Given the description of an element on the screen output the (x, y) to click on. 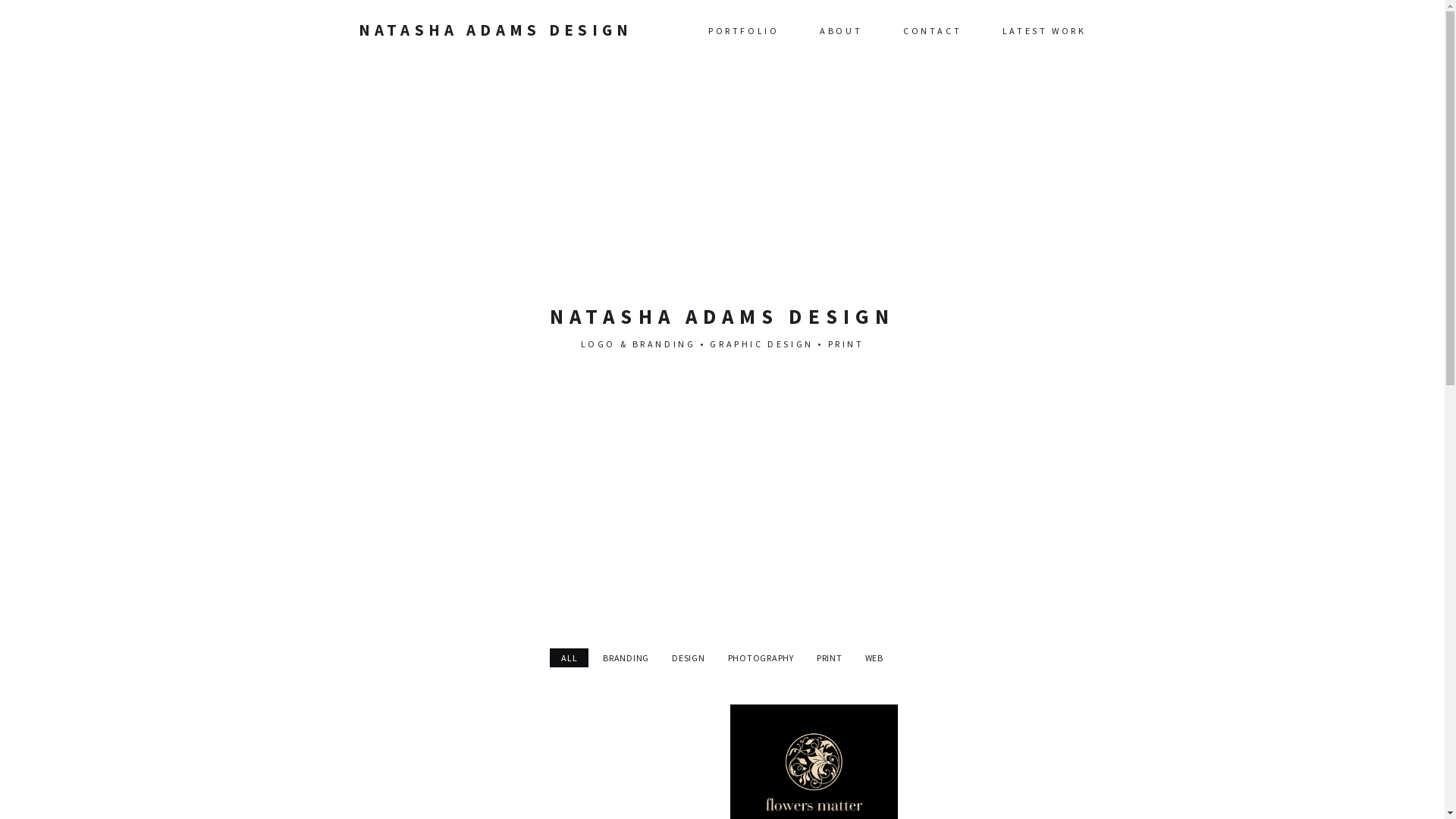
WEB Element type: text (873, 657)
DESIGN Element type: text (688, 657)
PHOTOGRAPHY Element type: text (760, 657)
ALL Element type: text (568, 657)
ABOUT Element type: text (840, 29)
BRANDING Element type: text (625, 657)
PORTFOLIO Element type: text (743, 29)
NATASHA ADAMS DESIGN Element type: text (494, 29)
LATEST WORK Element type: text (1044, 29)
CONTACT Element type: text (932, 29)
PRINT Element type: text (829, 657)
